Given the description of an element on the screen output the (x, y) to click on. 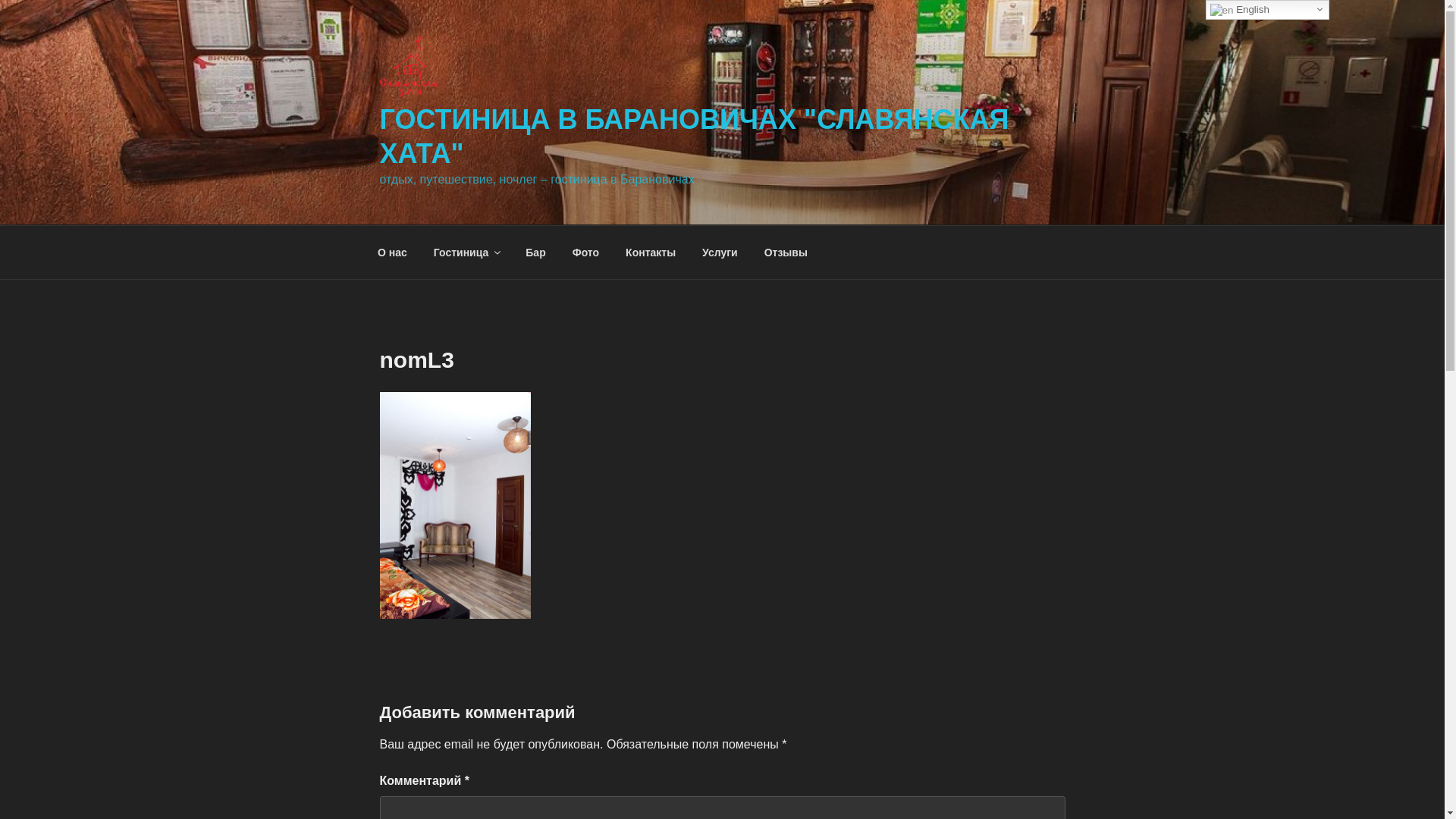
English Element type: text (1267, 9)
